Given the description of an element on the screen output the (x, y) to click on. 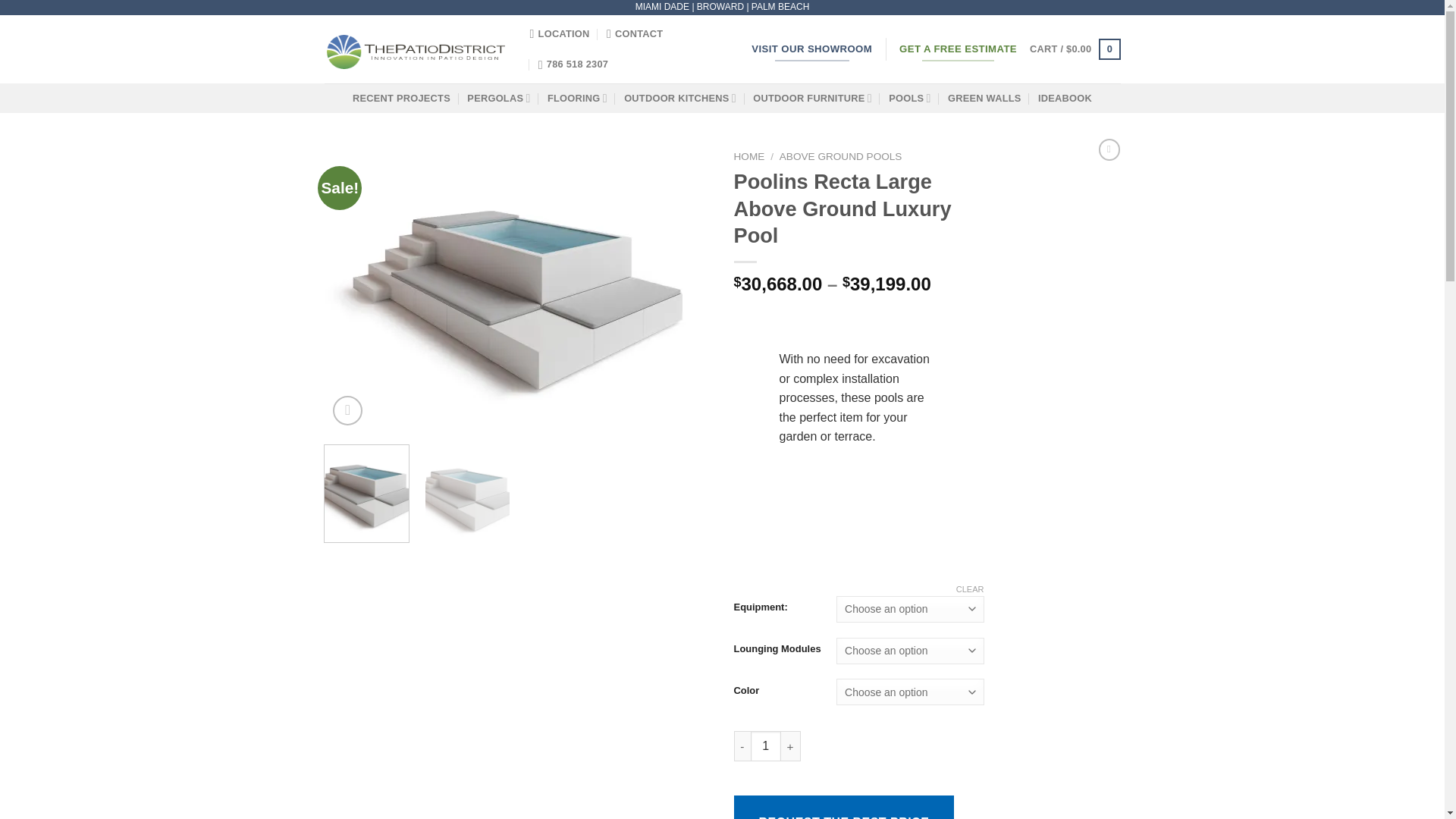
GET A FREE ESTIMATE (957, 49)
CONTACT (635, 33)
786 518 2307 (573, 64)
FLOORING (577, 98)
OUTDOOR KITCHENS (680, 98)
IDEABOOK (1065, 98)
GREEN WALLS (984, 98)
1 (765, 746)
POOLS (909, 98)
3305 NW 79 Ave. Doral Florida 33122 (559, 33)
OUTDOOR FURNITURE (812, 98)
PERGOLAS (498, 98)
786 518 2307 (573, 64)
The Patio District - Innovation in Patio Design (415, 49)
VISIT OUR SHOWROOM (812, 49)
